Given the description of an element on the screen output the (x, y) to click on. 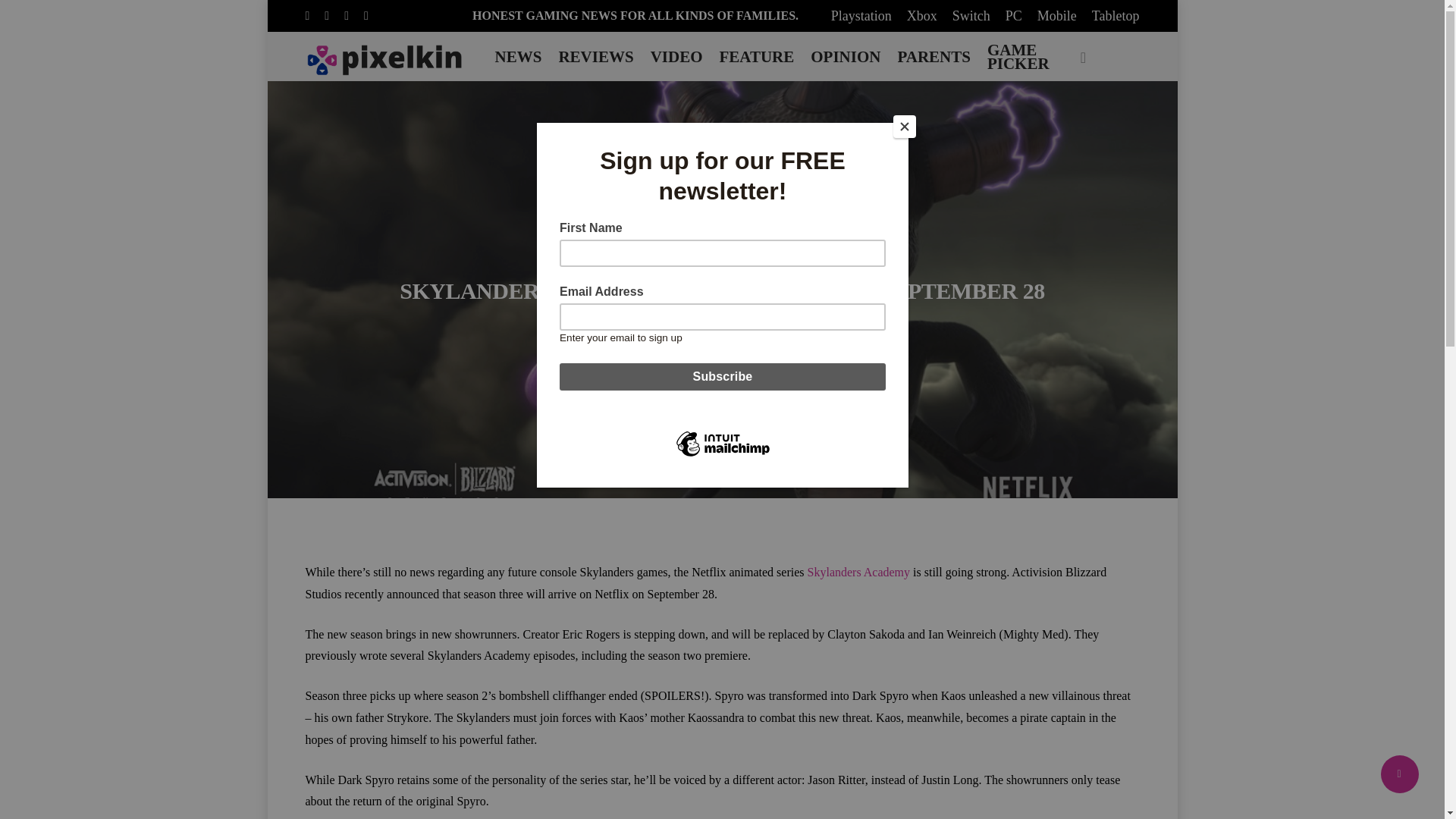
VIDEO (676, 56)
No Comments (777, 328)
OPINION (844, 56)
Tabletop (1116, 15)
Playstation (861, 15)
GAME PICKER (1018, 56)
News (721, 253)
FEATURE (755, 56)
Xbox (922, 15)
PC (1014, 15)
REVIEWS (595, 56)
Switch (971, 15)
Skylanders Academy (859, 571)
PARENTS (933, 56)
Mobile (1056, 15)
